Given the description of an element on the screen output the (x, y) to click on. 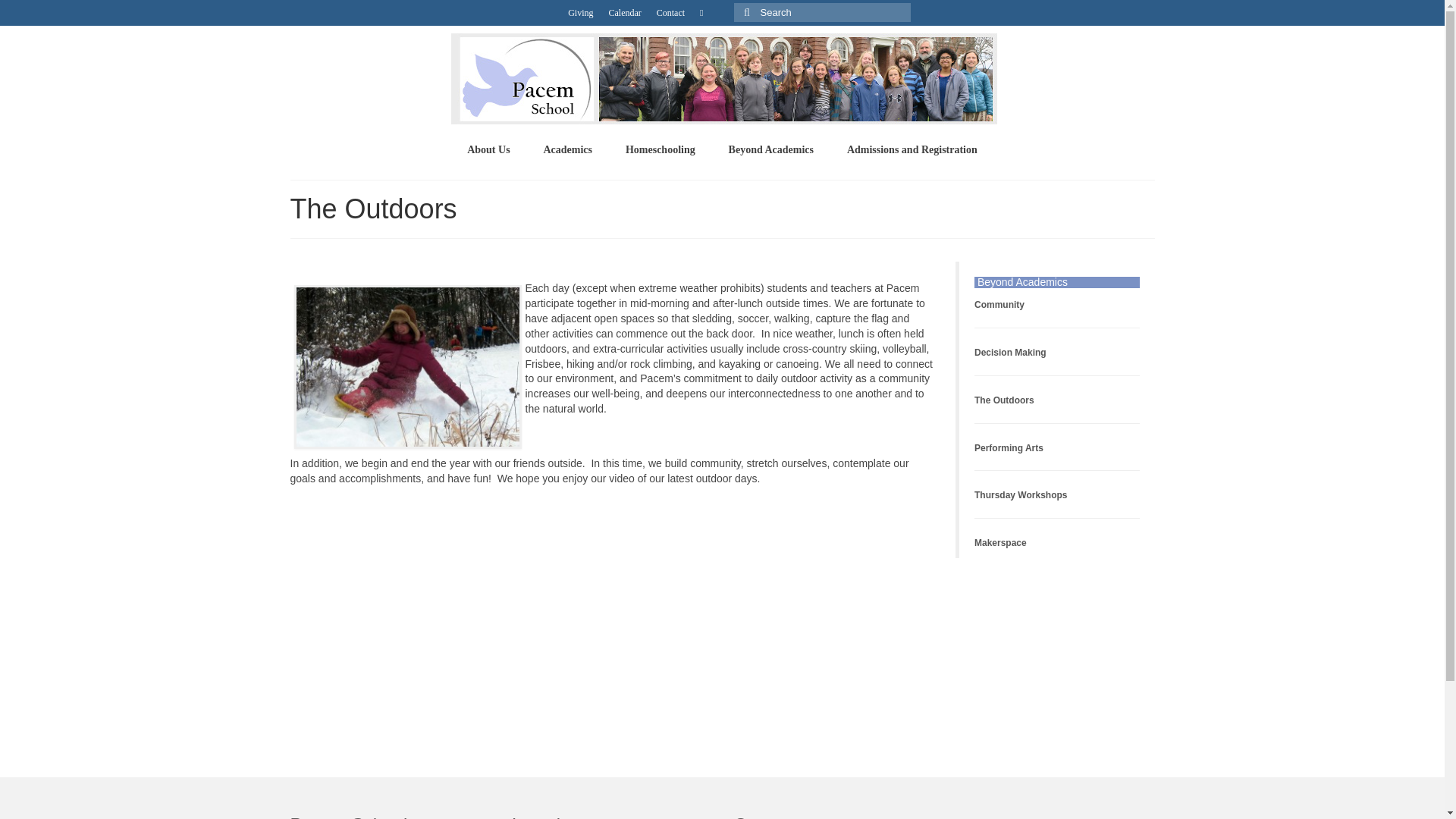
Makerspace (1000, 540)
Thursday Workshops (1020, 493)
Community (999, 303)
Beyond Academics (770, 149)
Giving (579, 12)
Contact (671, 12)
Admissions and Registration (911, 149)
About Us (487, 149)
The Outdoors (1003, 399)
Decision Making (1011, 350)
Performing Arts (1008, 446)
Homeschooling (660, 149)
Calendar (623, 12)
Academics (567, 149)
